Given the description of an element on the screen output the (x, y) to click on. 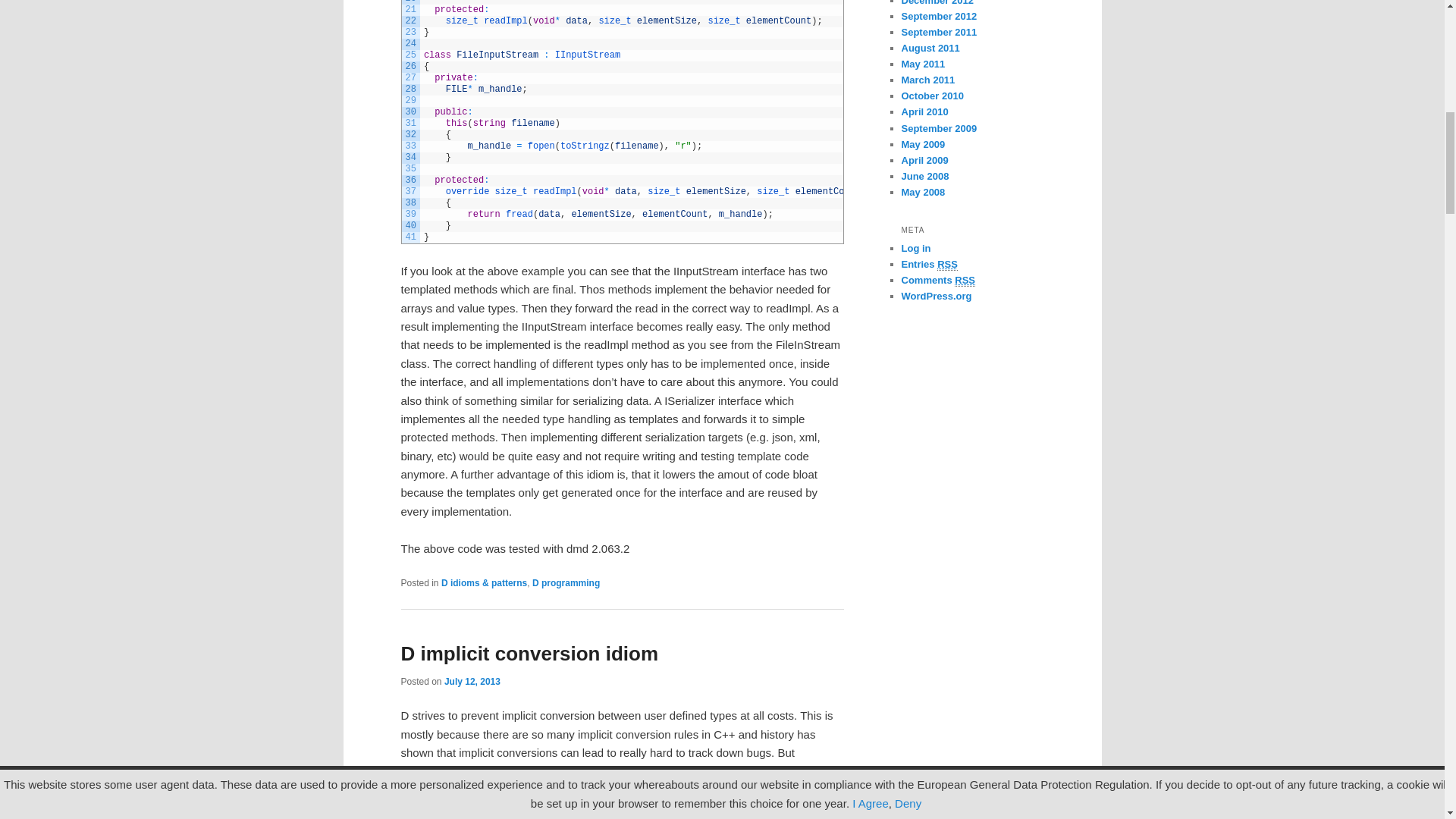
D programming (565, 583)
D implicit conversion idiom (529, 653)
July 12, 2013 (472, 681)
08:22 (472, 681)
